Given the description of an element on the screen output the (x, y) to click on. 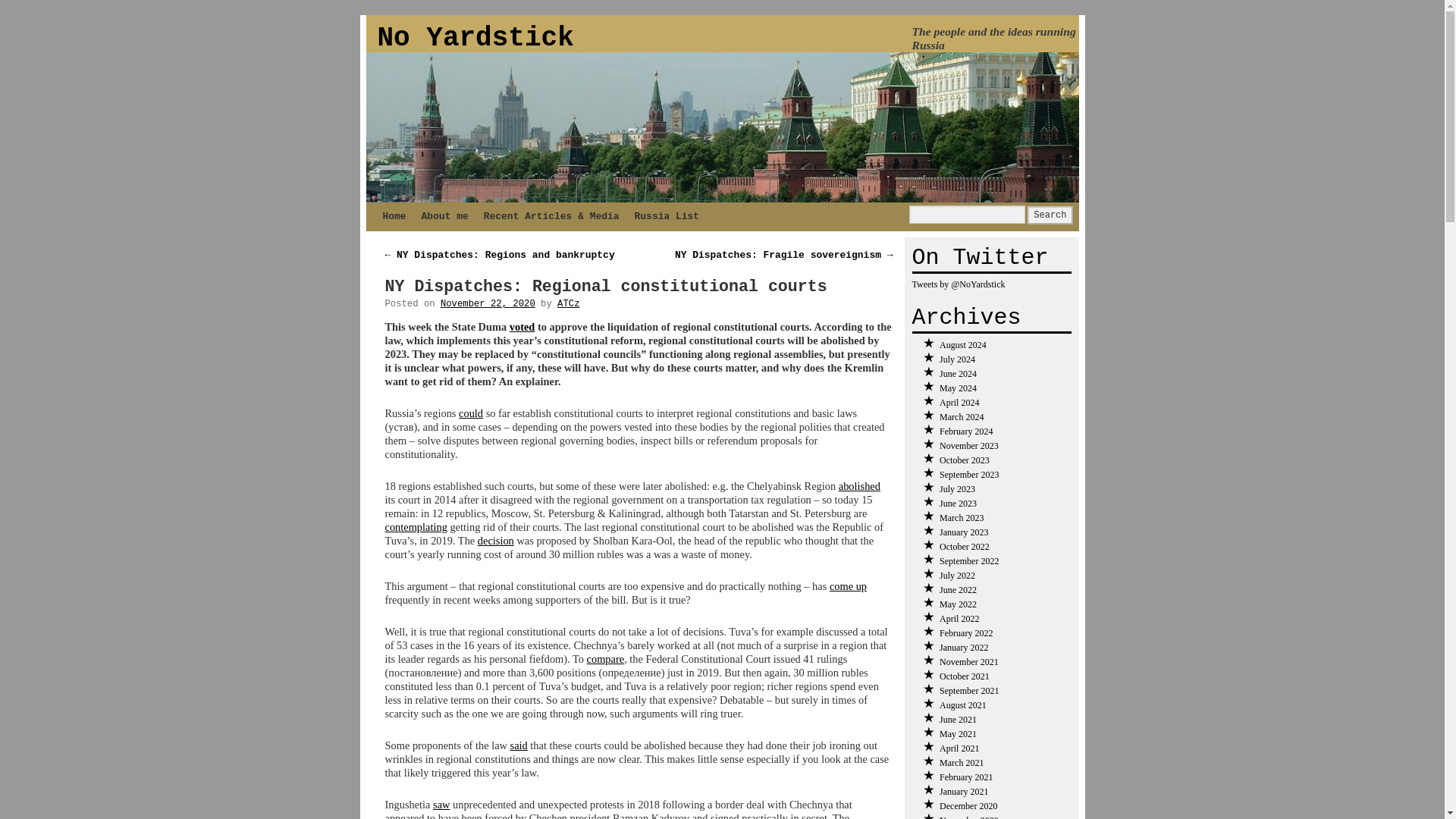
No Yardstick (475, 38)
decision (495, 540)
Search (1049, 215)
About me (444, 216)
4:10 pm (488, 303)
View all posts by ATCz (568, 303)
could (470, 413)
NY Dispatches: Regional constitutional courts (606, 286)
Permalink to NY Dispatches: Regional constitutional courts (606, 286)
Search (1049, 215)
